Given the description of an element on the screen output the (x, y) to click on. 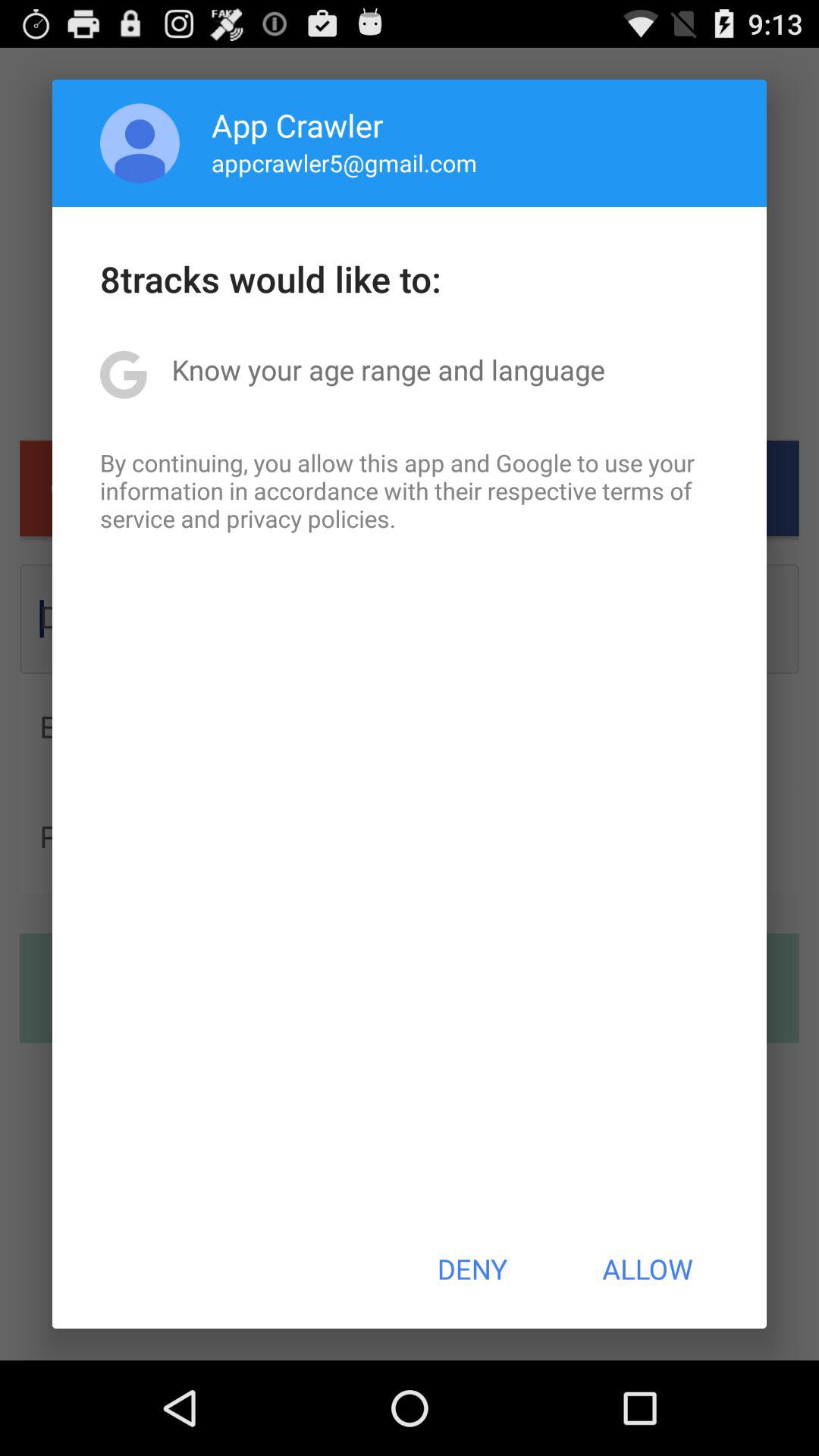
press appcrawler5@gmail.com (344, 162)
